Given the description of an element on the screen output the (x, y) to click on. 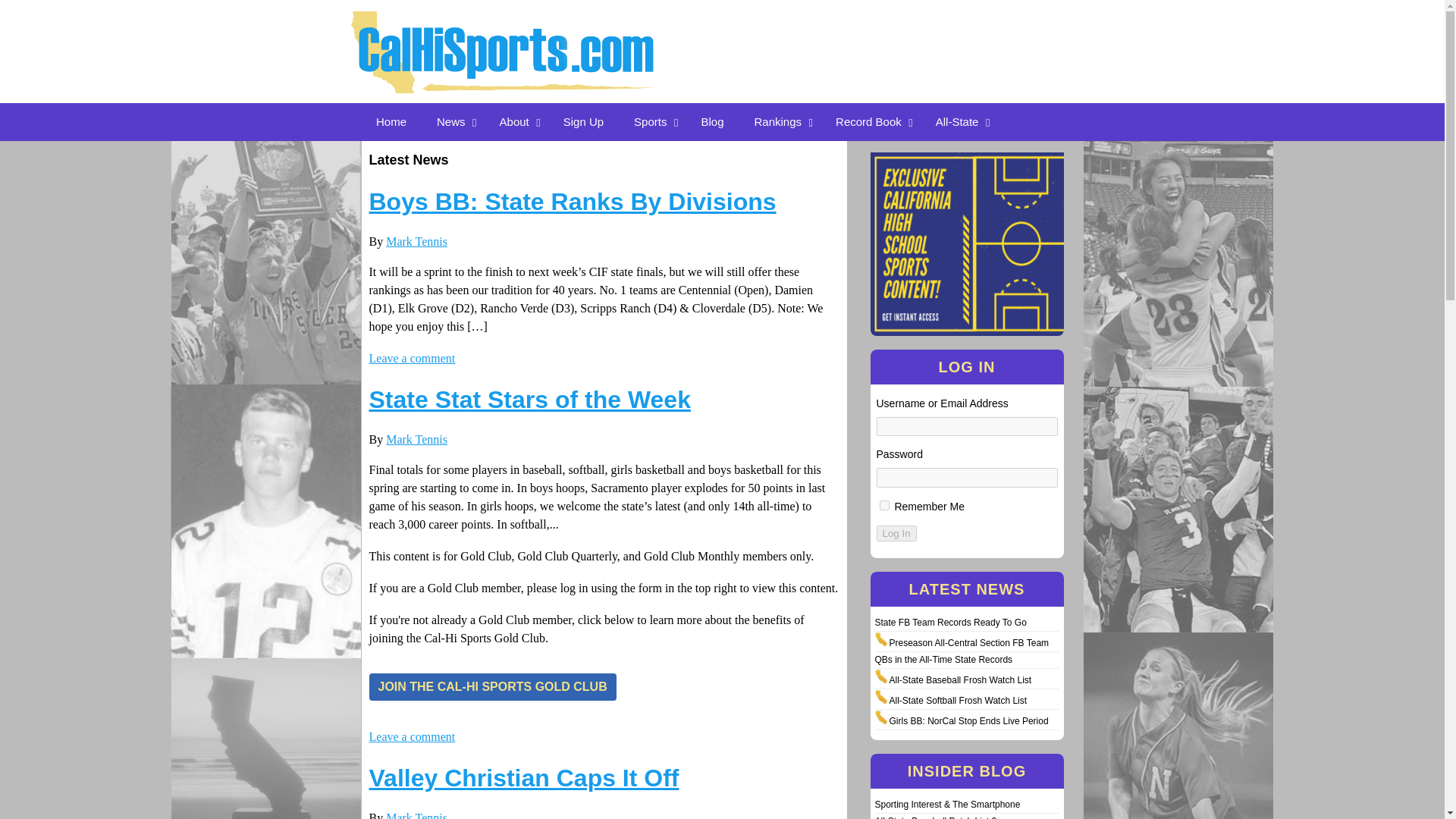
About (516, 121)
Record Book (870, 121)
Permalink to Valley Christian Caps It Off (523, 777)
Rankings (779, 121)
View all posts by Mark Tennis (415, 241)
News (453, 121)
Home (391, 121)
View all posts by Mark Tennis (415, 815)
View all posts by Mark Tennis (415, 439)
Blog (711, 121)
